Given the description of an element on the screen output the (x, y) to click on. 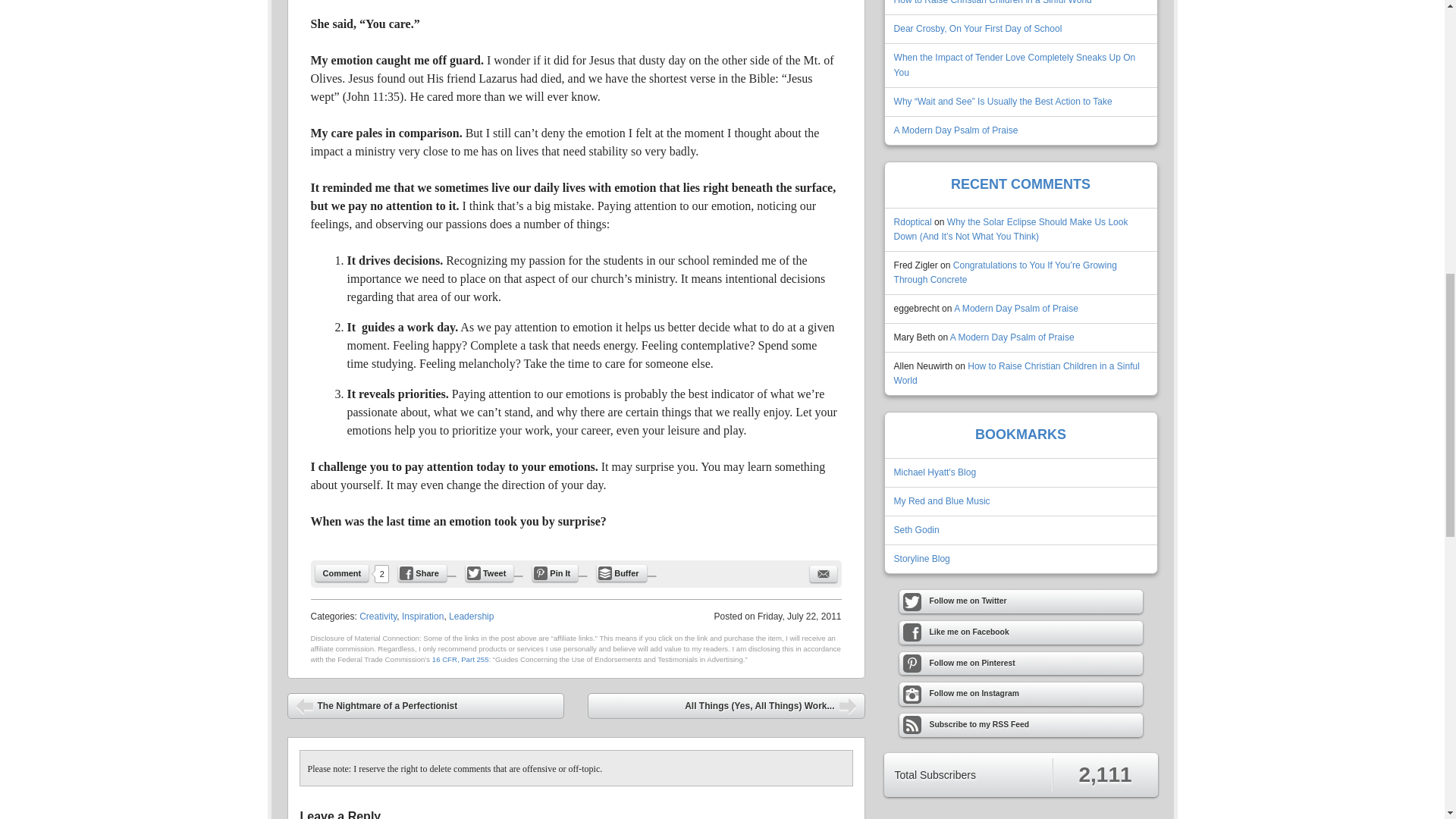
Creativity (377, 615)
Leadership (470, 615)
Buffer (621, 573)
Comment (342, 573)
16 CFR, Part 255 (460, 659)
Share (421, 573)
Pin It (555, 573)
Tweet (489, 573)
Inspiration (422, 615)
email (823, 573)
